Given the description of an element on the screen output the (x, y) to click on. 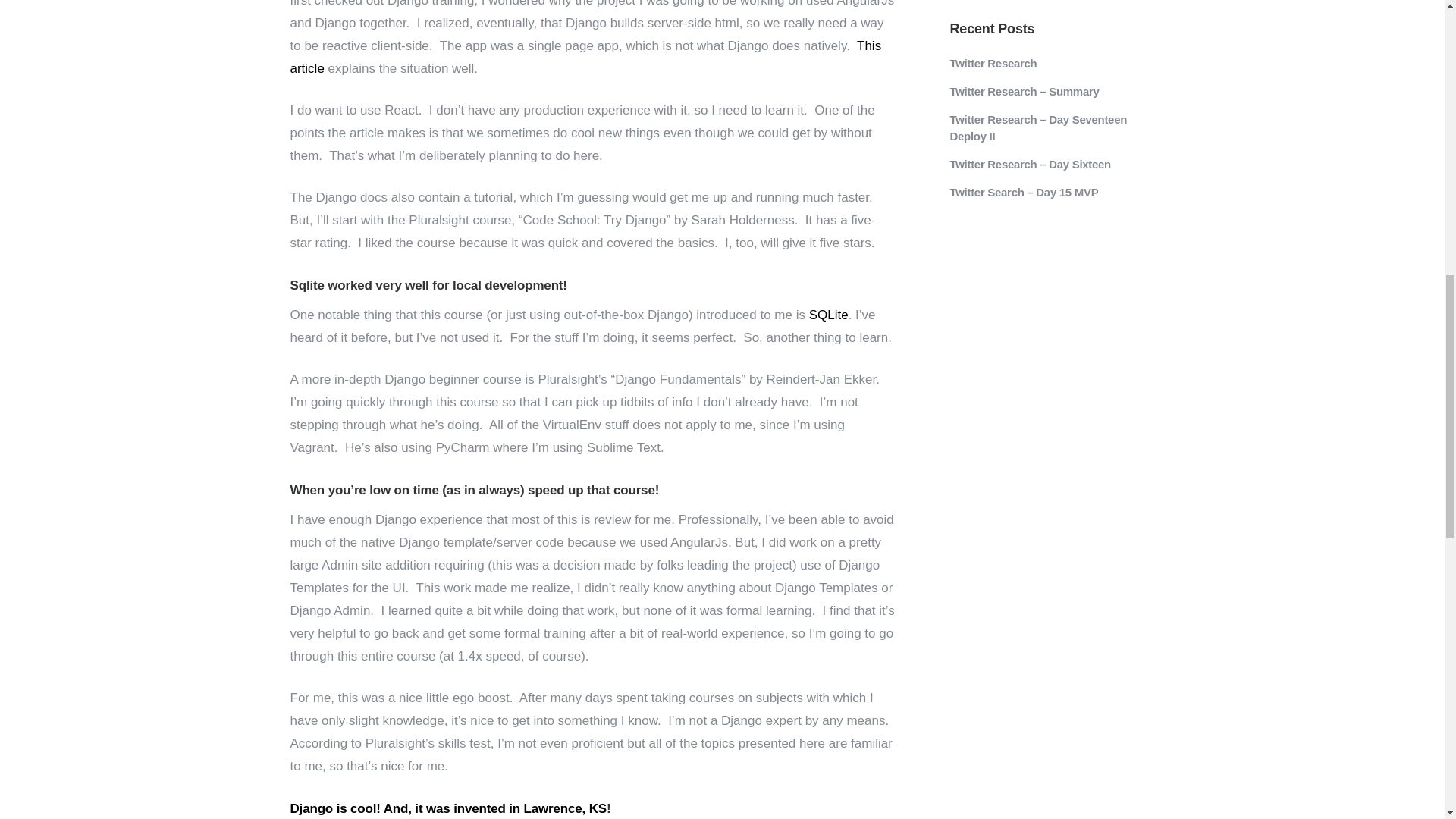
SQLite (828, 314)
This article (584, 57)
Twitter Research (1055, 63)
Django is cool! And, it was invented in Lawrence, KS (448, 808)
